Given the description of an element on the screen output the (x, y) to click on. 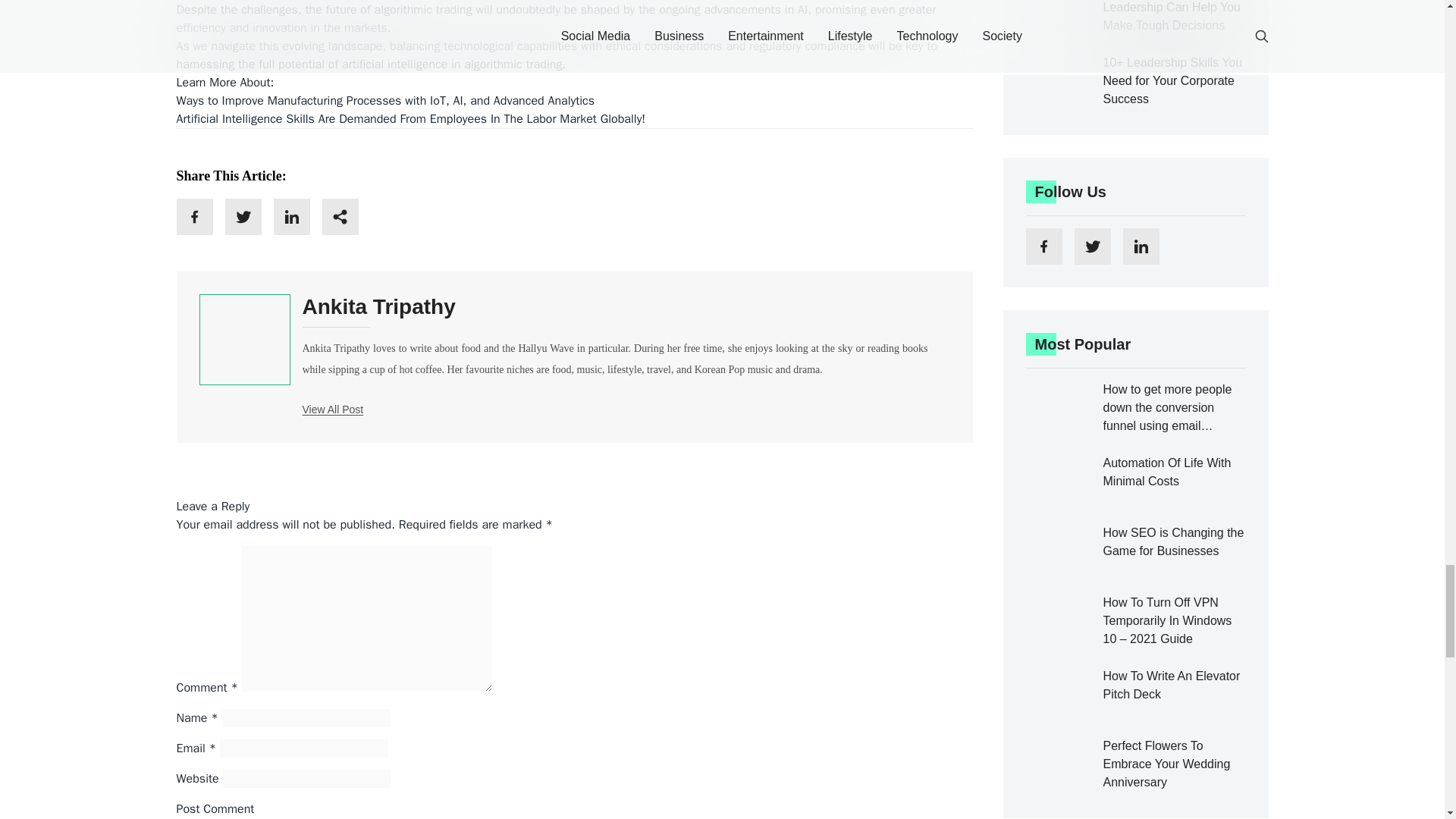
Post Comment (214, 809)
